Given the description of an element on the screen output the (x, y) to click on. 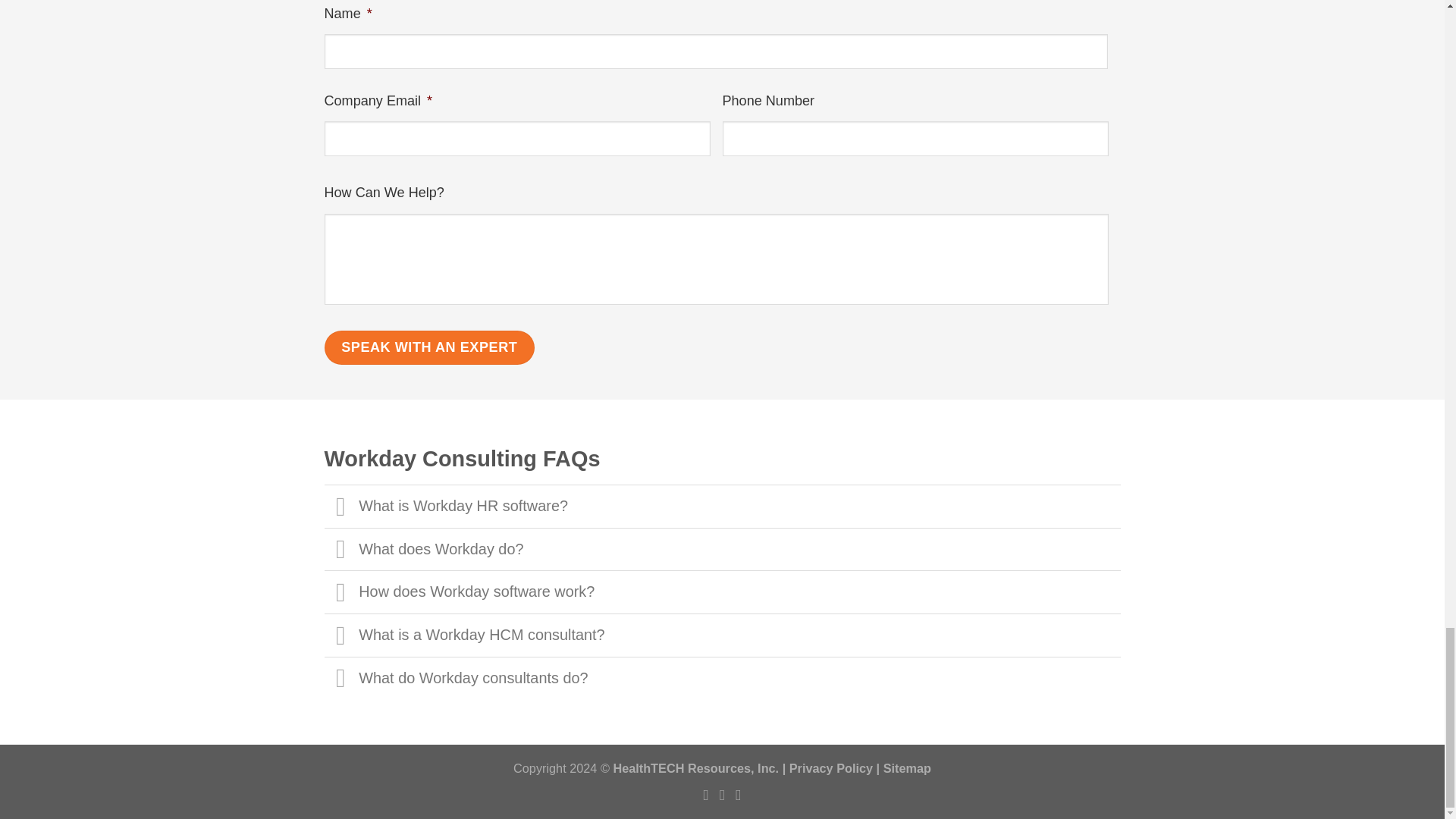
Speak with an Expert (429, 347)
